Given the description of an element on the screen output the (x, y) to click on. 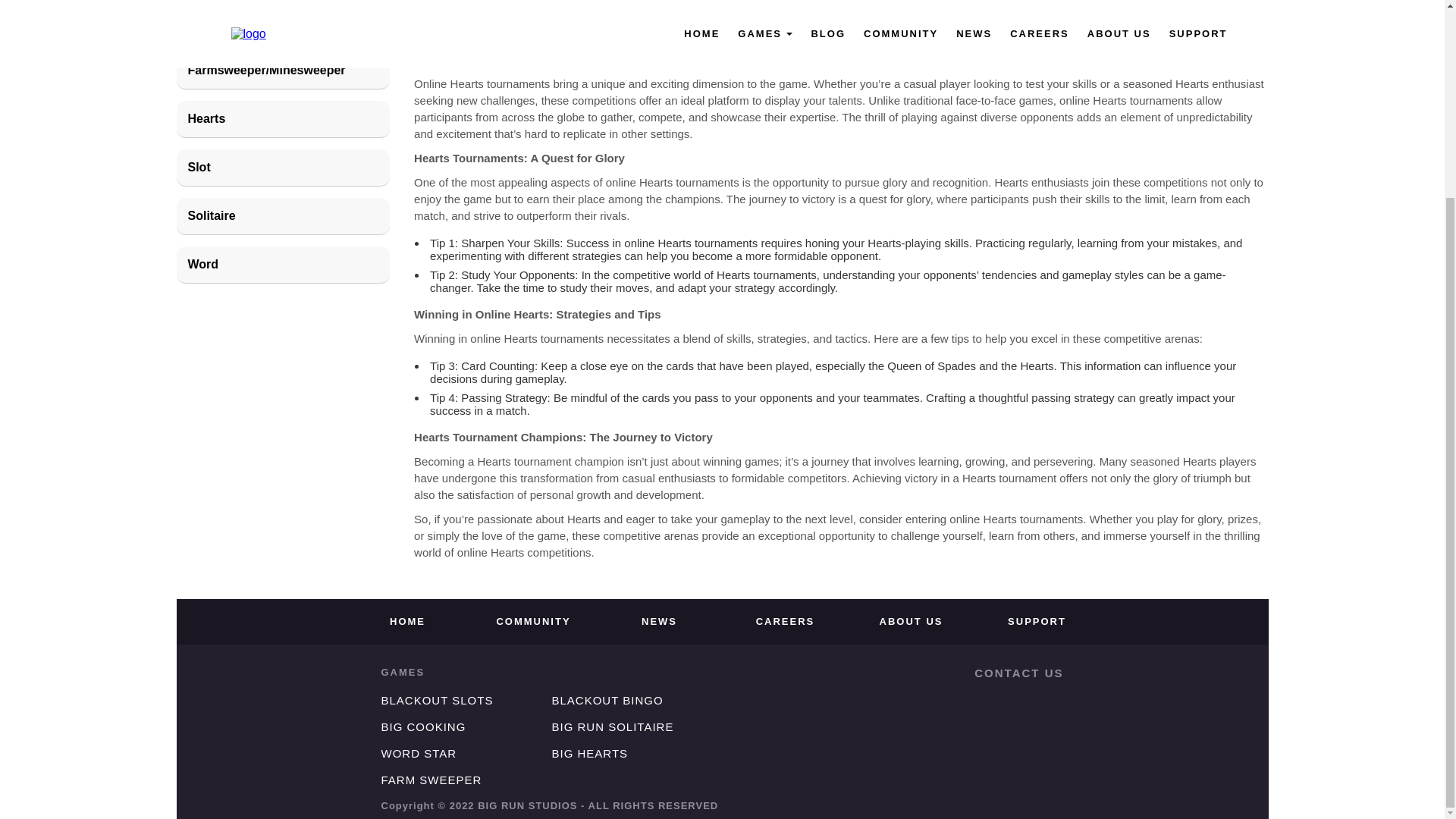
CAREERS (785, 621)
Cooking (283, 22)
BLACKOUT BINGO (607, 699)
NEWS (659, 621)
ABOUT US (911, 621)
BIG COOKING (422, 726)
BIG RUN SOLITAIRE (612, 726)
HOME (407, 621)
Word (283, 264)
Hearts (283, 119)
